Given the description of an element on the screen output the (x, y) to click on. 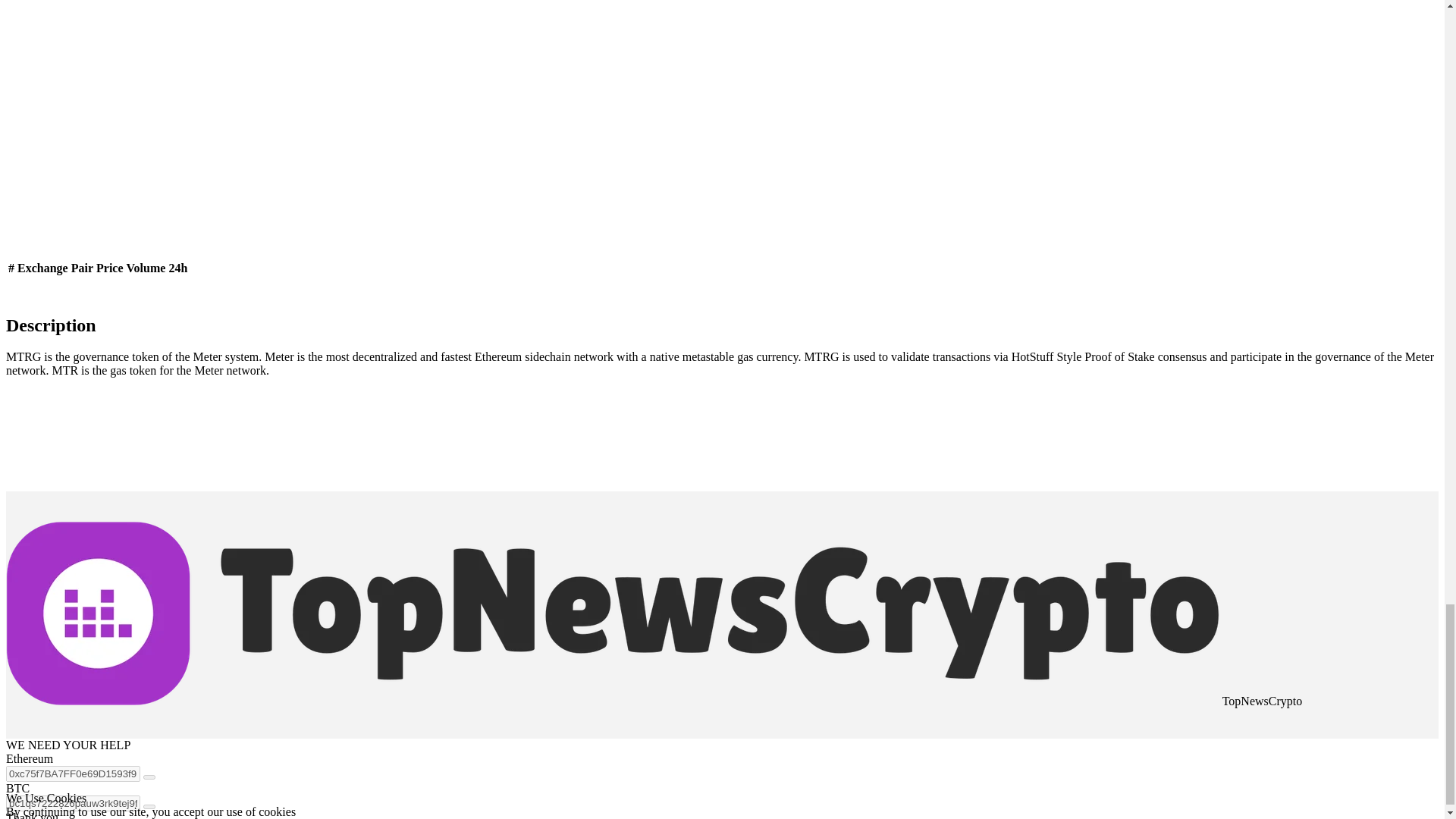
0xc75f7BA7FF0e69D1593f927cFe1e33C9D353ECB0 (72, 773)
bc1qs72228z6pauw3rk9tej9f6umu4y9gz289y3cvn (72, 803)
